Given the description of an element on the screen output the (x, y) to click on. 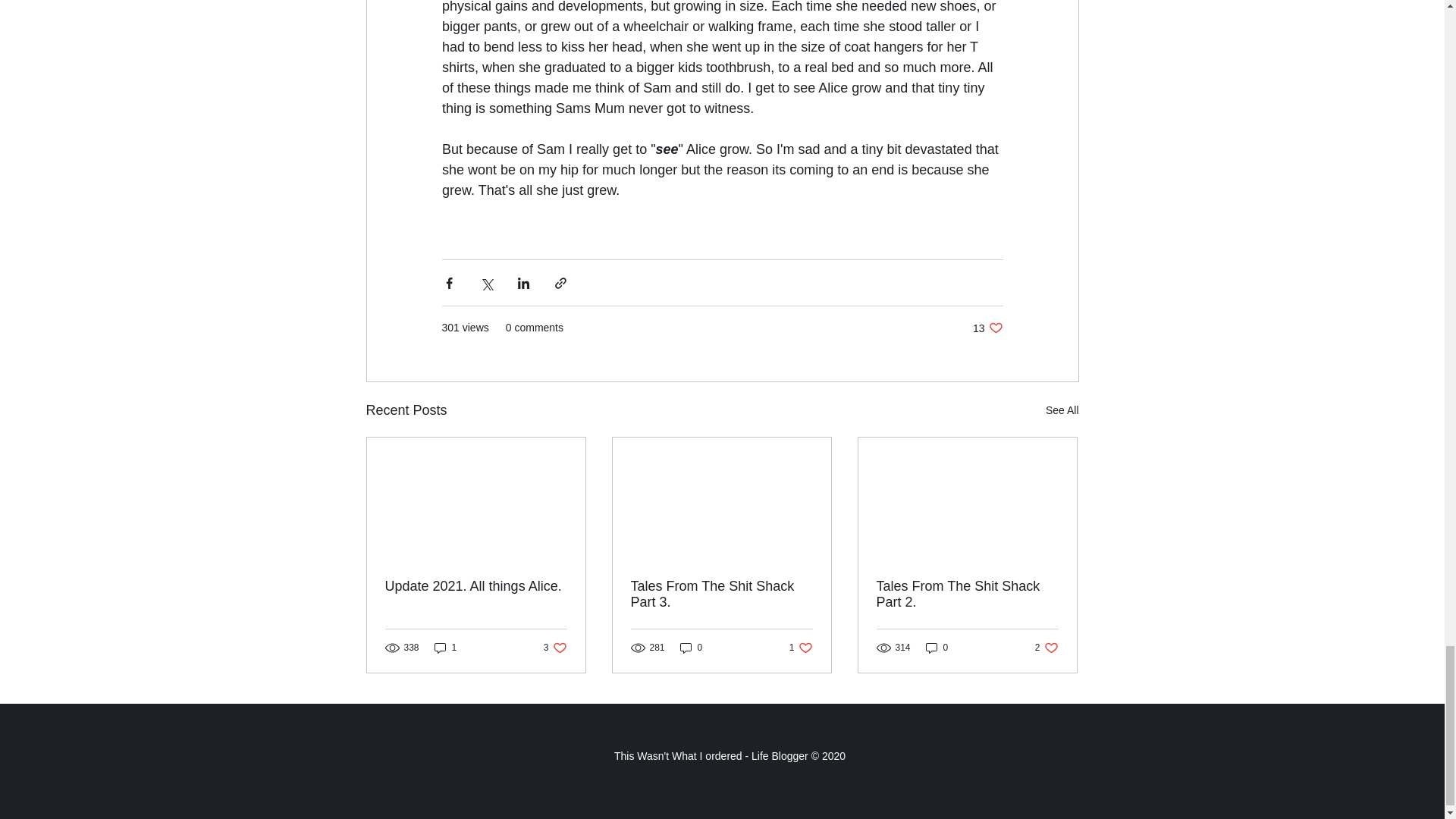
Tales From The Shit Shack Part 2. (967, 594)
Tales From The Shit Shack Part 3. (1046, 647)
www.thiswasntwhatiordered.com (721, 594)
0 (800, 647)
Update 2021. All things Alice. (729, 775)
See All (937, 647)
0 (476, 586)
1 (987, 327)
